Given the description of an element on the screen output the (x, y) to click on. 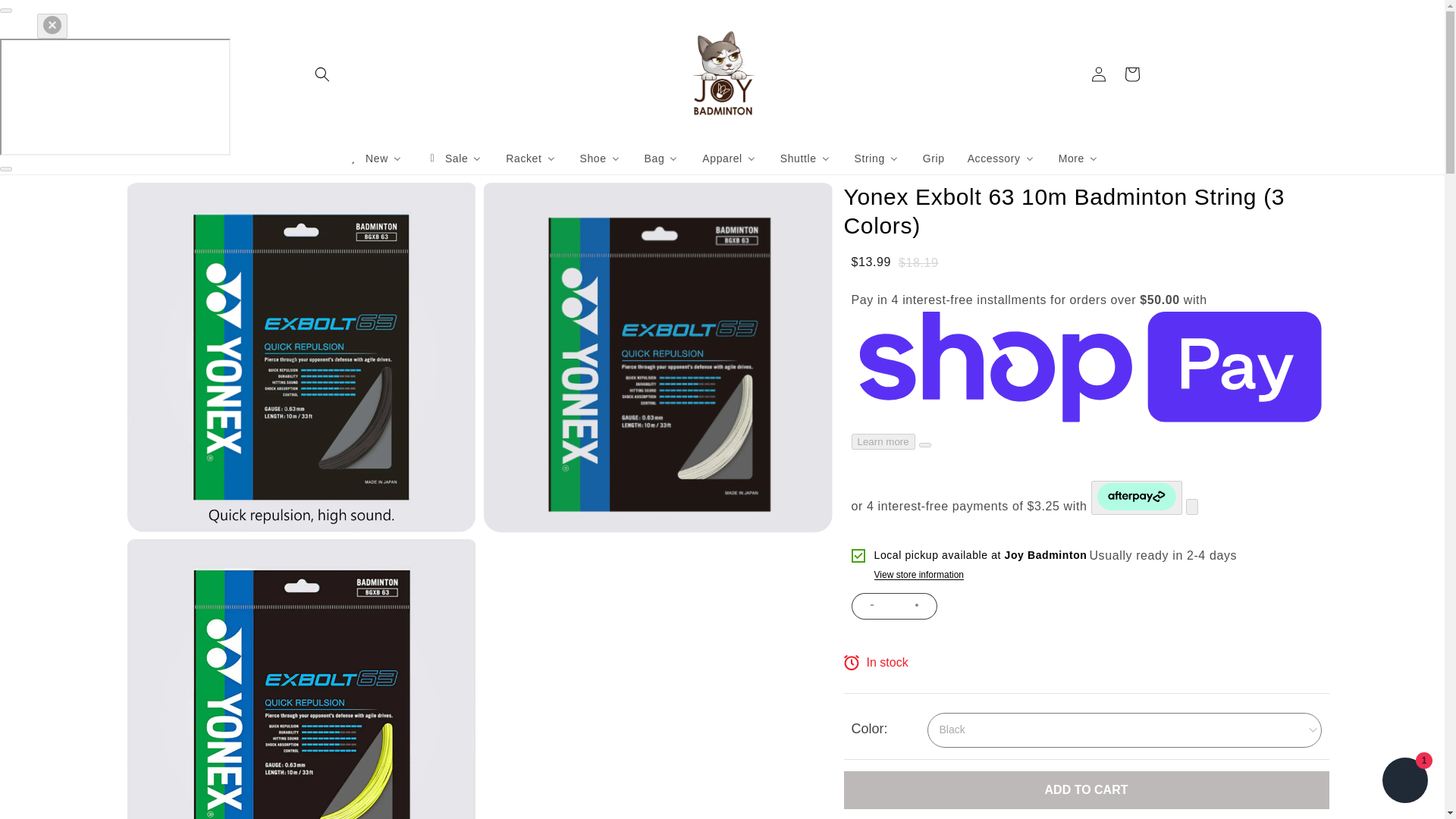
Skip to content (45, 16)
